Given the description of an element on the screen output the (x, y) to click on. 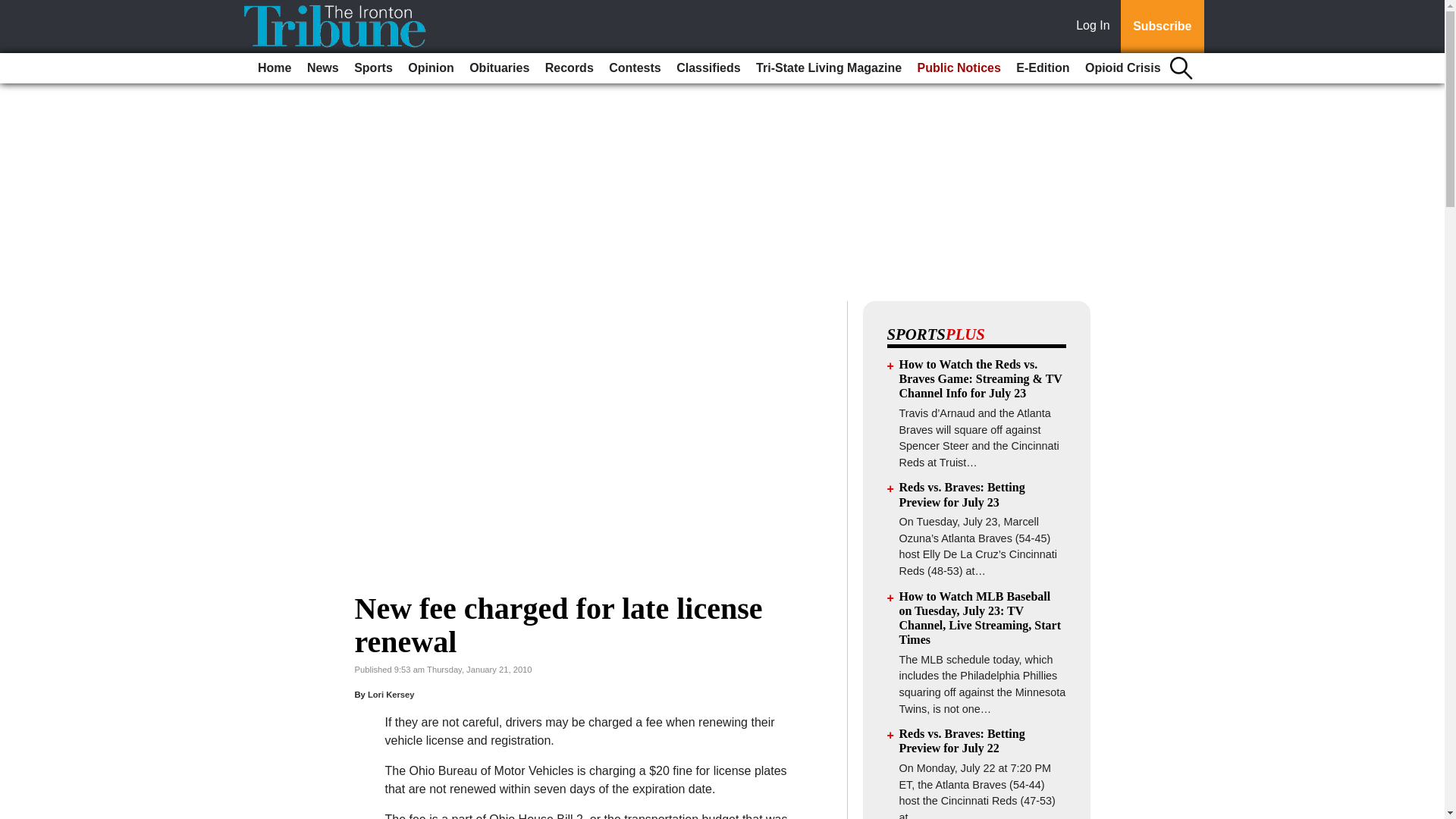
Tri-State Living Magazine (828, 68)
Subscribe (1162, 26)
Sports (372, 68)
Lori Kersey (391, 694)
Public Notices (959, 68)
Classifieds (707, 68)
Obituaries (499, 68)
News (323, 68)
Reds vs. Braves: Betting Preview for July 22 (962, 740)
E-Edition (1042, 68)
Reds vs. Braves: Betting Preview for July 23 (962, 493)
Opinion (430, 68)
Log In (1095, 26)
Go (13, 9)
